Given the description of an element on the screen output the (x, y) to click on. 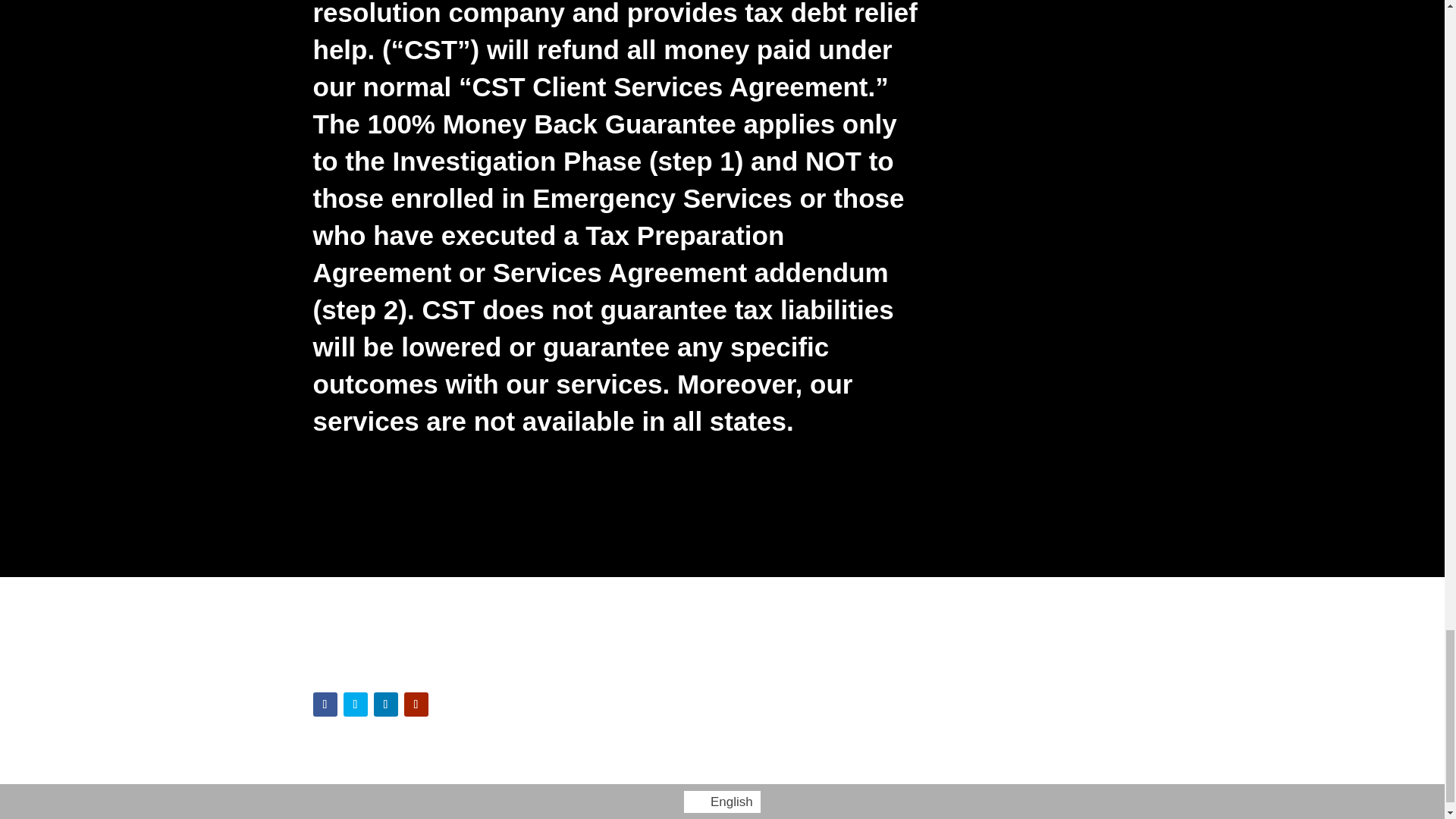
Follow on Facebook (324, 704)
Follow on Twitter (354, 704)
Follow on LinkedIn (384, 704)
